Given the description of an element on the screen output the (x, y) to click on. 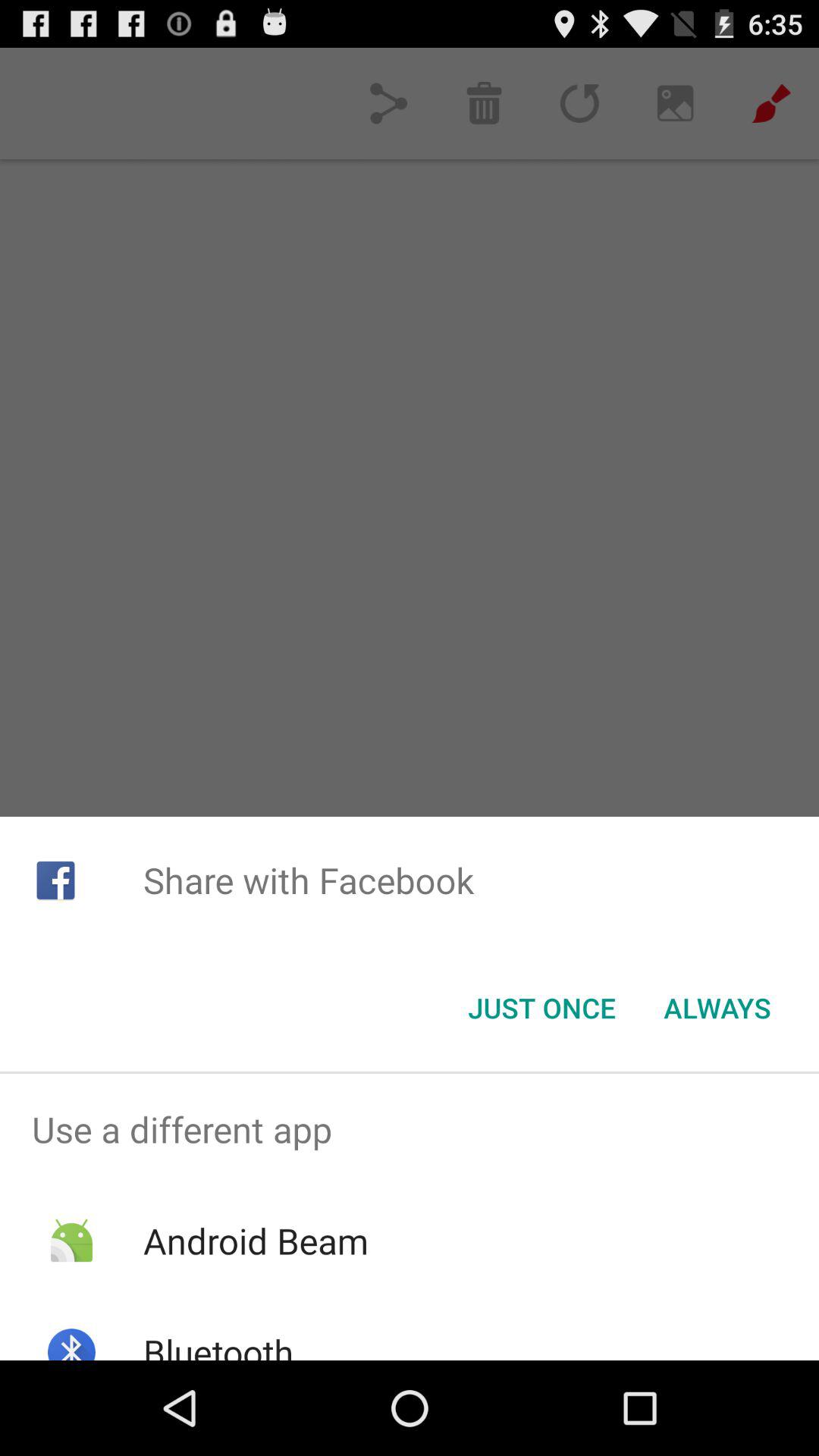
flip until the always icon (717, 1007)
